Given the description of an element on the screen output the (x, y) to click on. 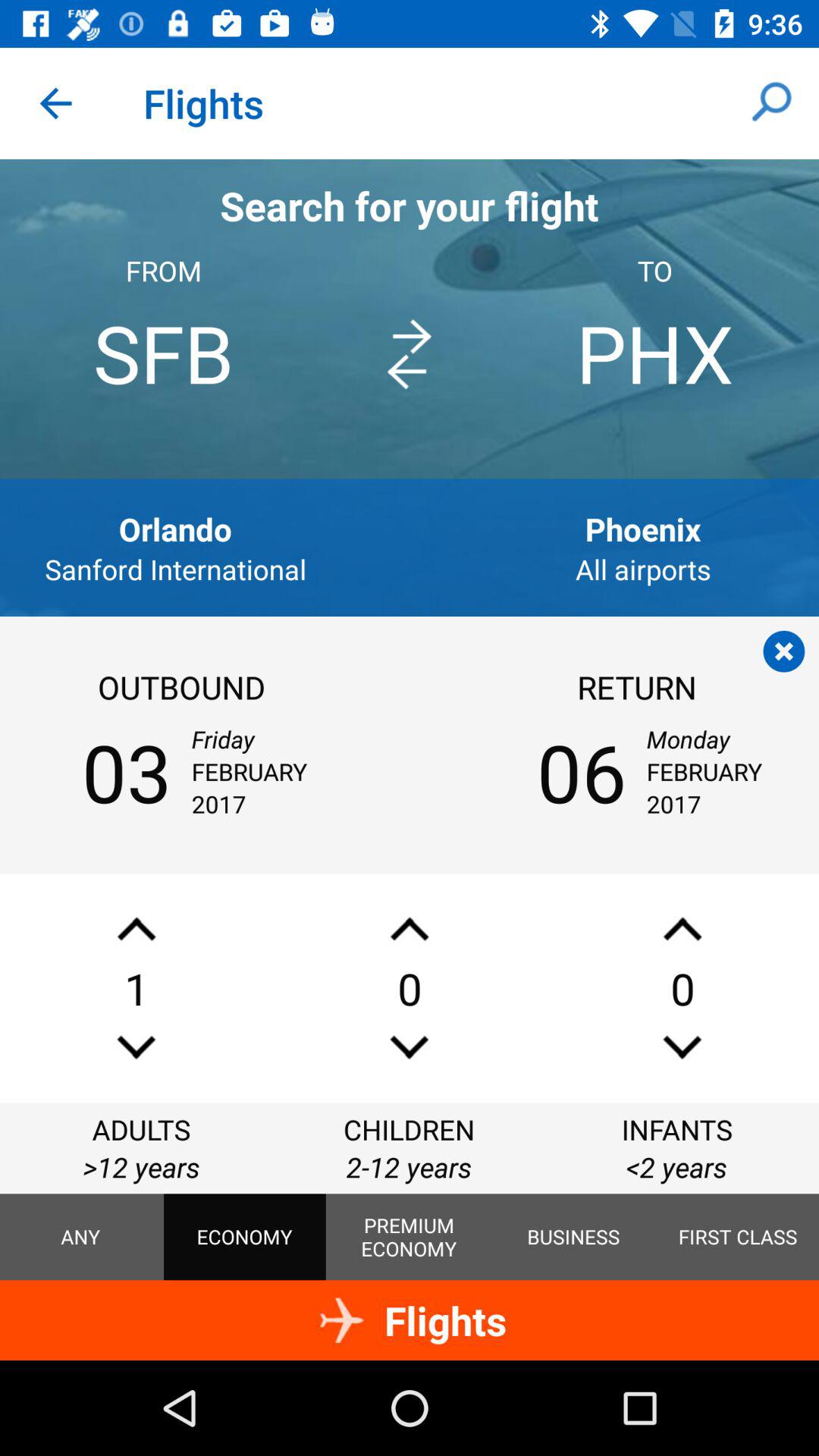
click third aarow pointing down (682, 1047)
